Given the description of an element on the screen output the (x, y) to click on. 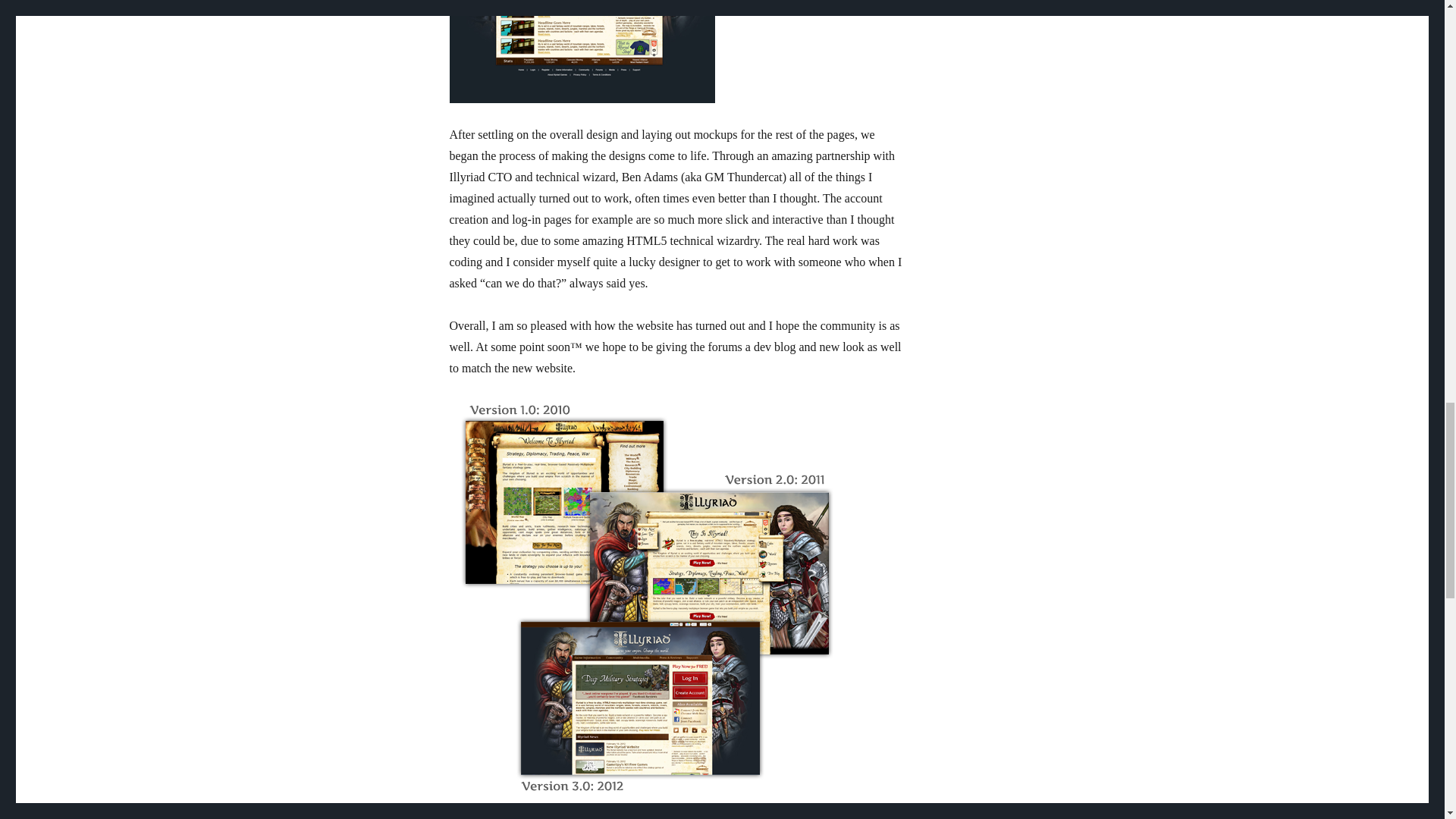
homepage wide - Op2 (581, 51)
